Given the description of an element on the screen output the (x, y) to click on. 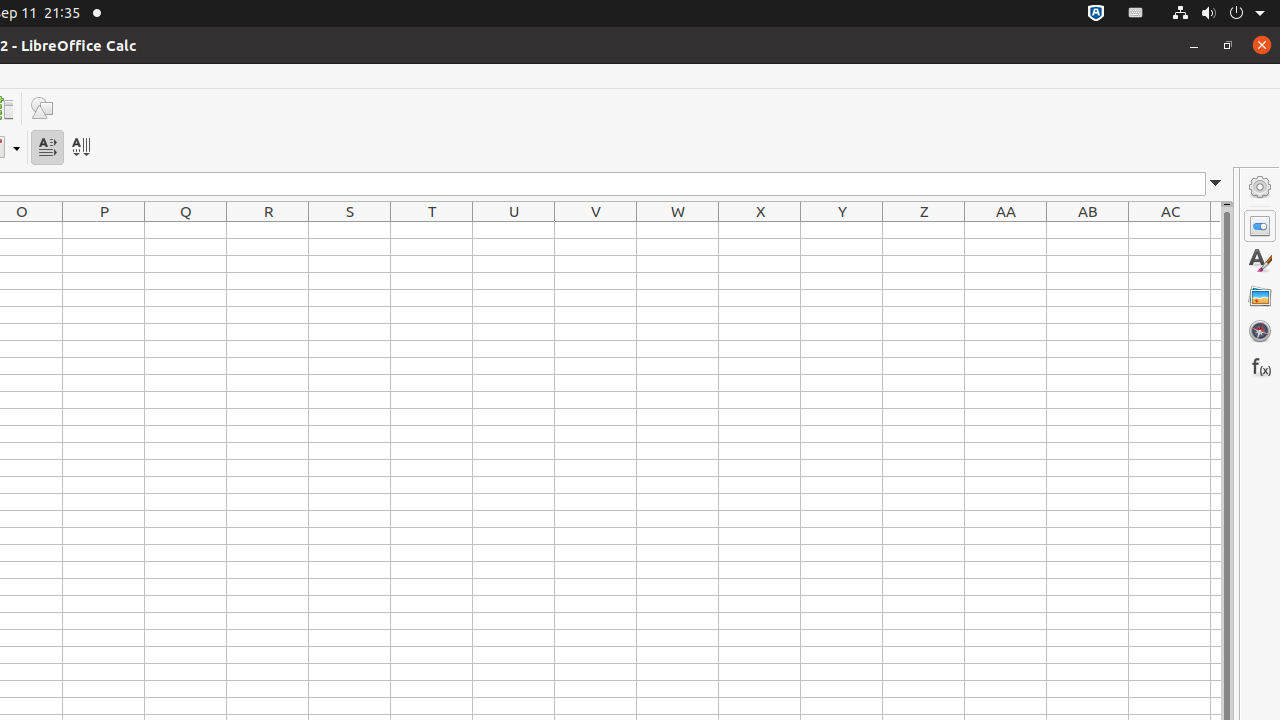
W1 Element type: table-cell (678, 230)
AB1 Element type: table-cell (1088, 230)
Functions Element type: radio-button (1260, 366)
T1 Element type: table-cell (432, 230)
AD1 Element type: table-cell (1216, 230)
